Given the description of an element on the screen output the (x, y) to click on. 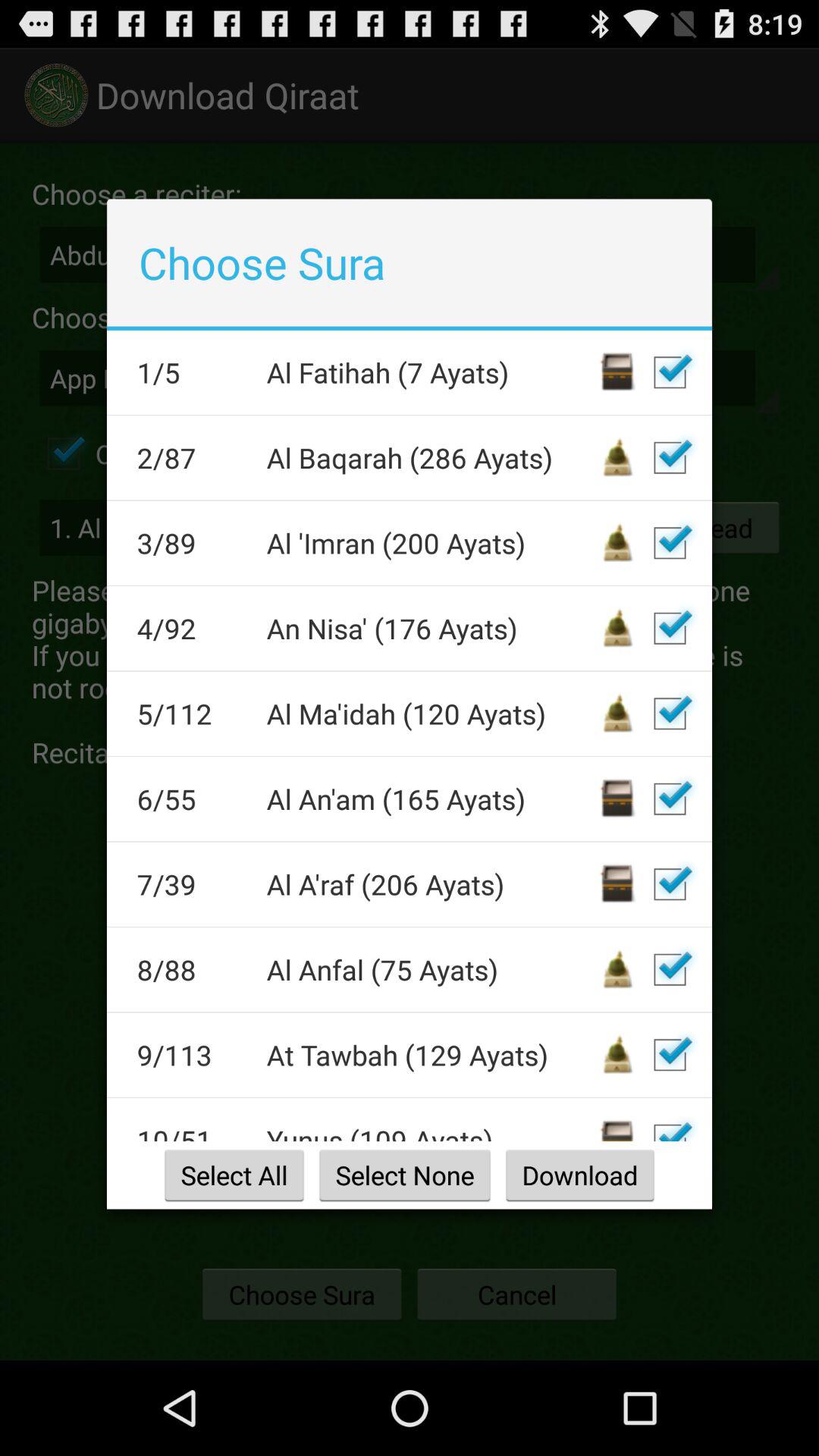
unselect checkbox (669, 969)
